Given the description of an element on the screen output the (x, y) to click on. 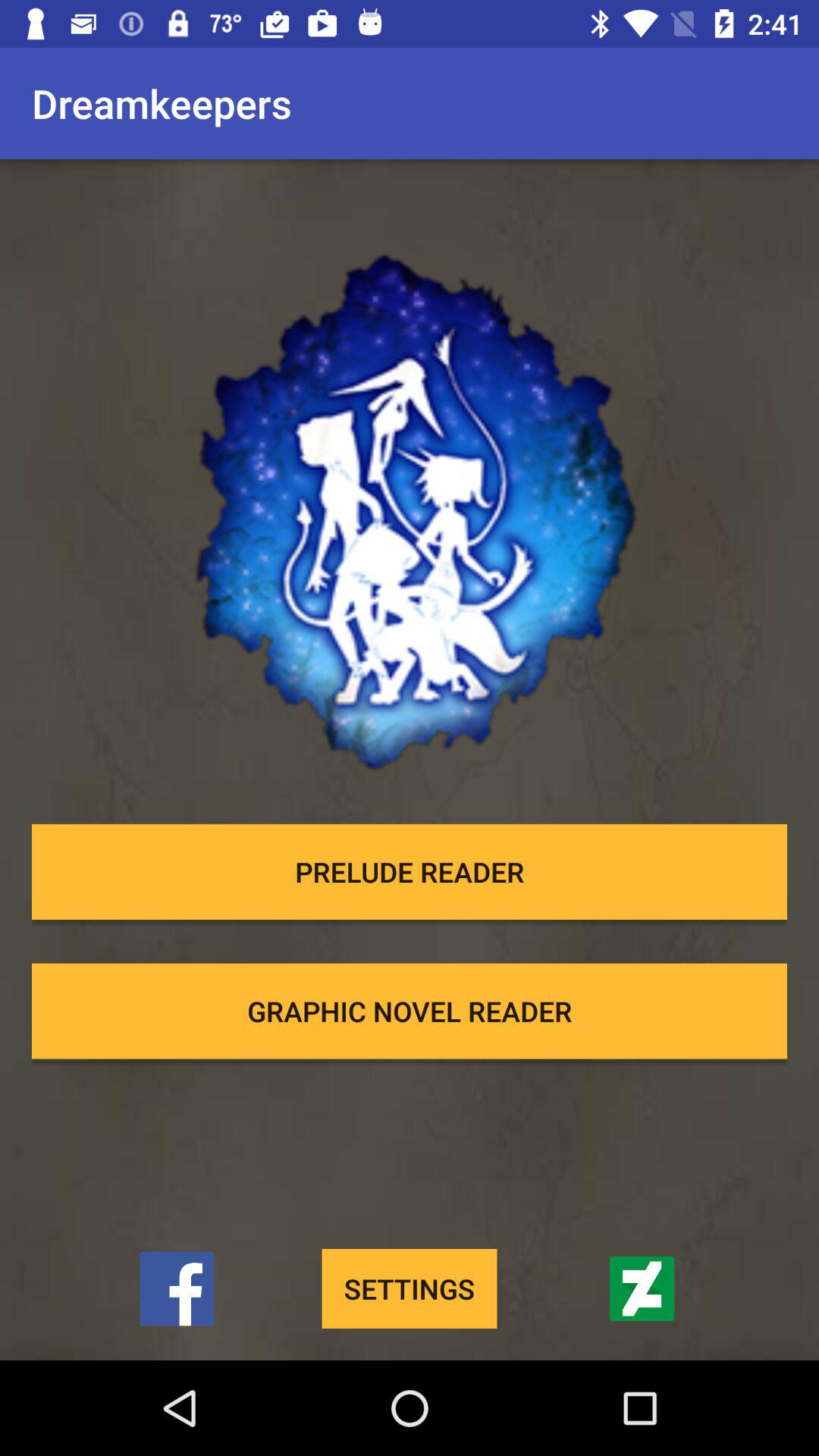
choose the settings (409, 1288)
